Given the description of an element on the screen output the (x, y) to click on. 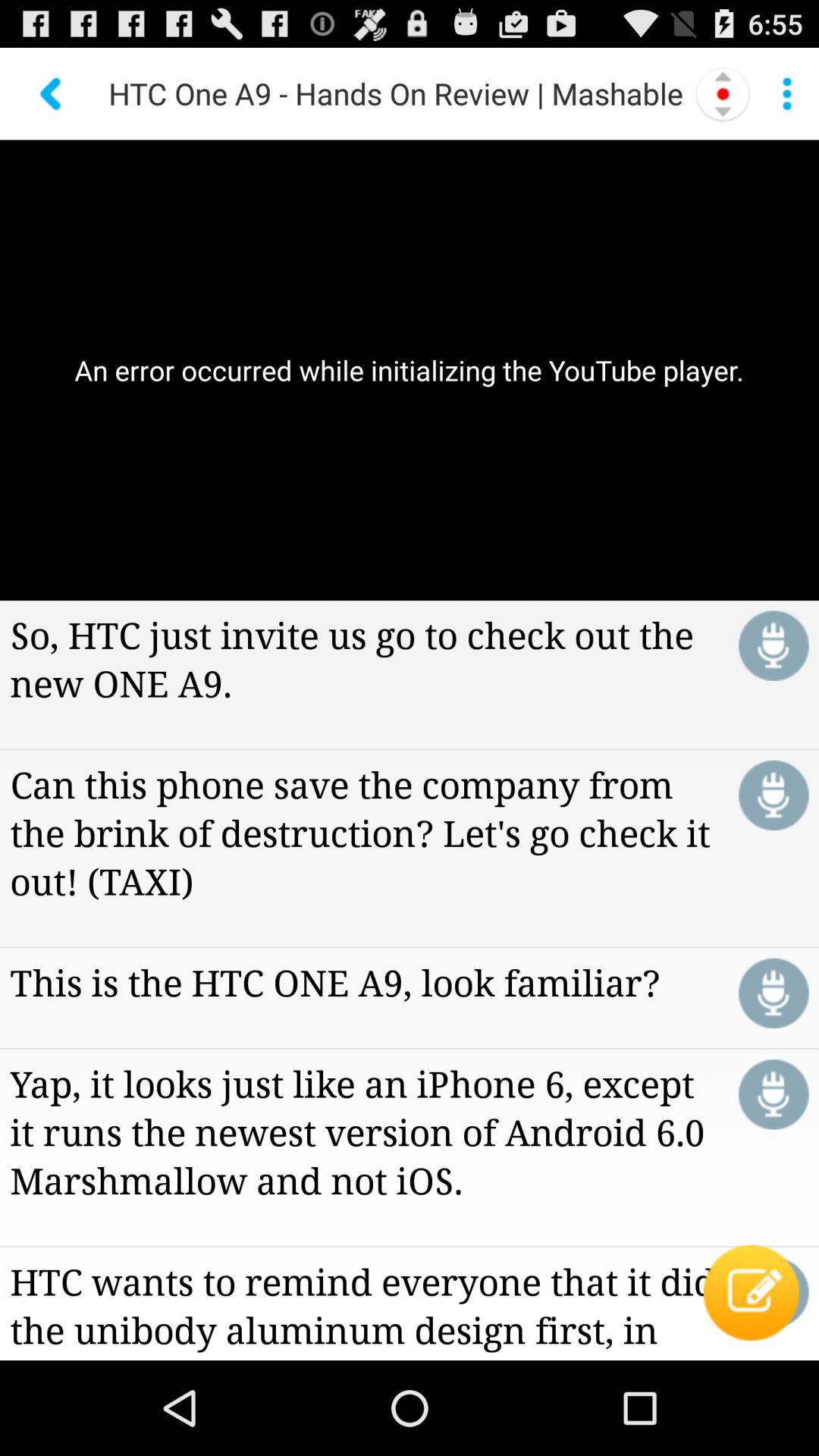
write message (773, 1292)
